Given the description of an element on the screen output the (x, y) to click on. 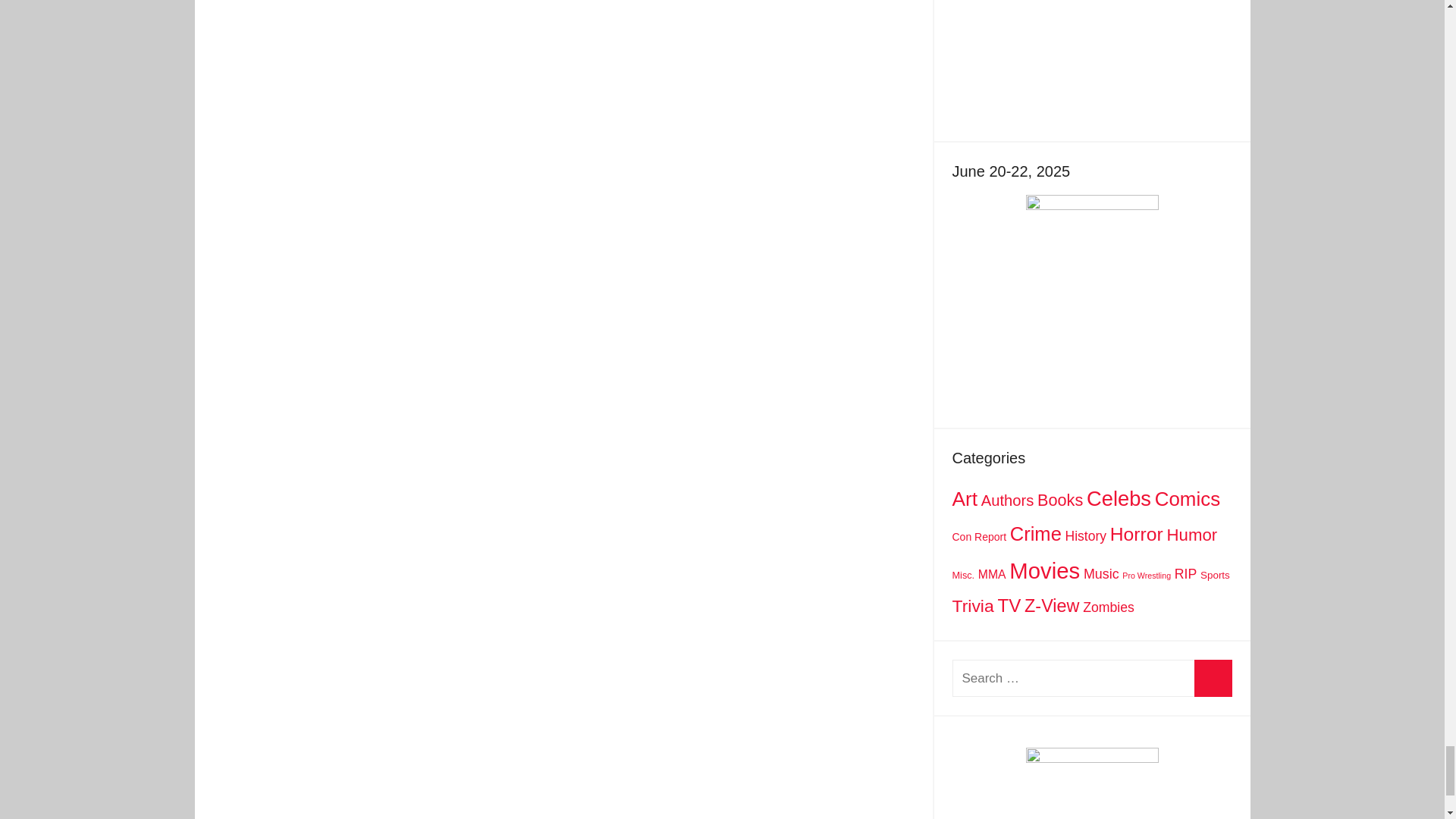
Search for: (1091, 678)
